Given the description of an element on the screen output the (x, y) to click on. 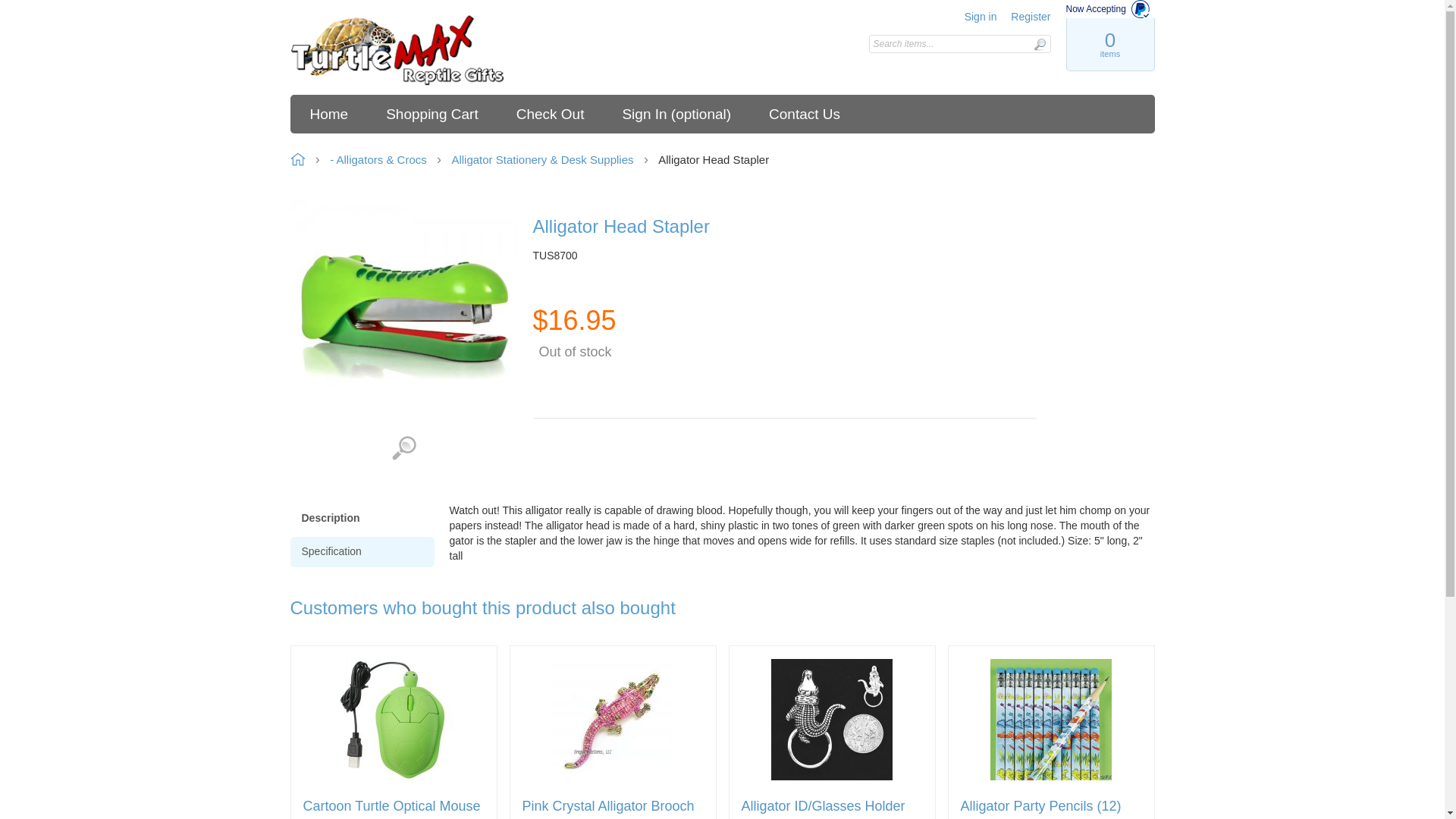
Your cart (1109, 44)
Home (397, 50)
Now Accepting PayPal (1109, 9)
Search (1039, 43)
